Given the description of an element on the screen output the (x, y) to click on. 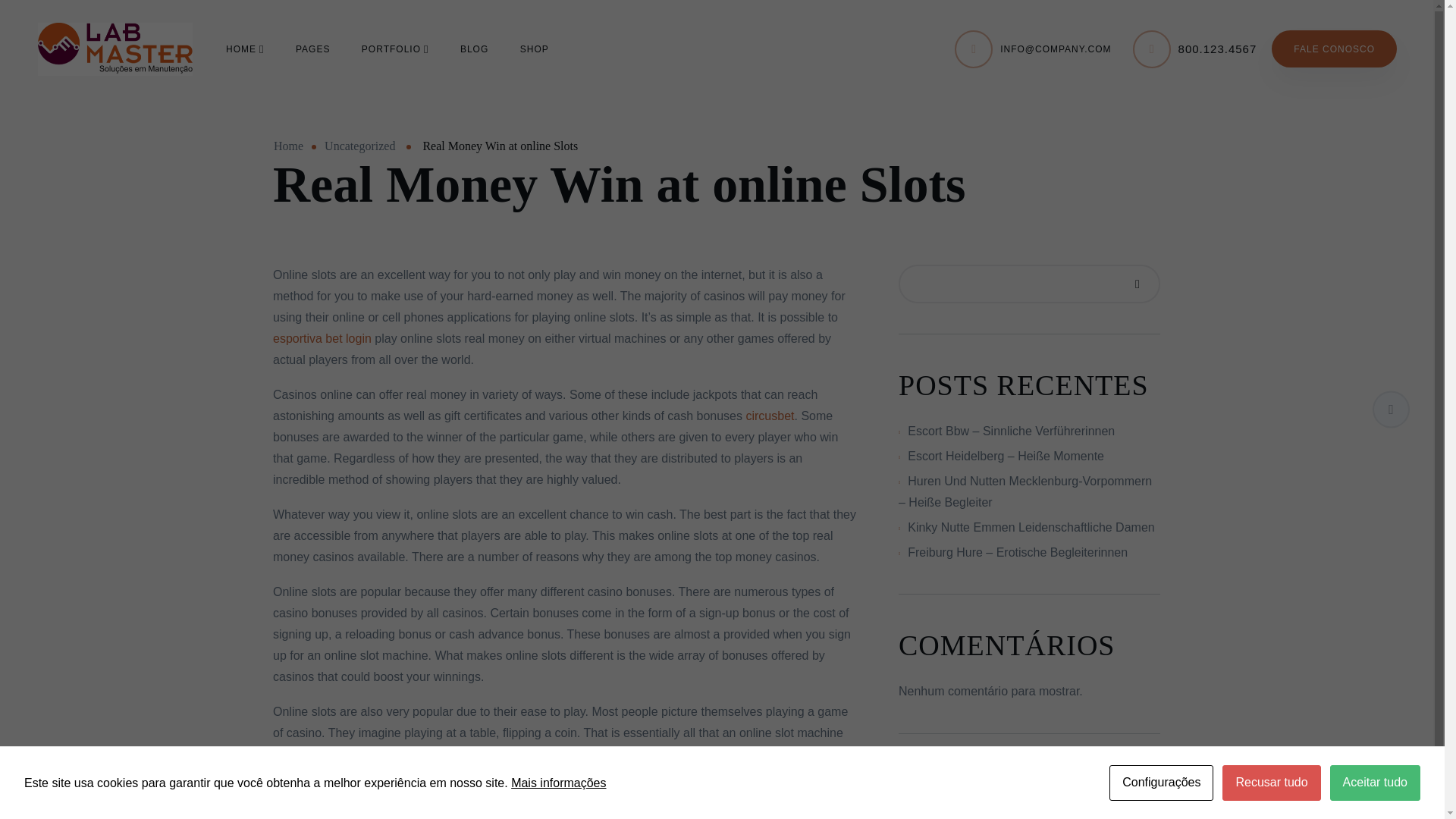
Uncategorized (359, 145)
circusbet (769, 415)
Home (288, 145)
PORTFOLIO (395, 48)
SHOP (533, 48)
PAGES (312, 48)
HOME (244, 48)
FALE CONOSCO (1333, 48)
lab (114, 49)
esportiva bet login (322, 338)
800.123.4567 (1217, 48)
BLOG (473, 48)
Kinky Nutte Emmen Leidenschaftliche Damen (1030, 526)
